Given the description of an element on the screen output the (x, y) to click on. 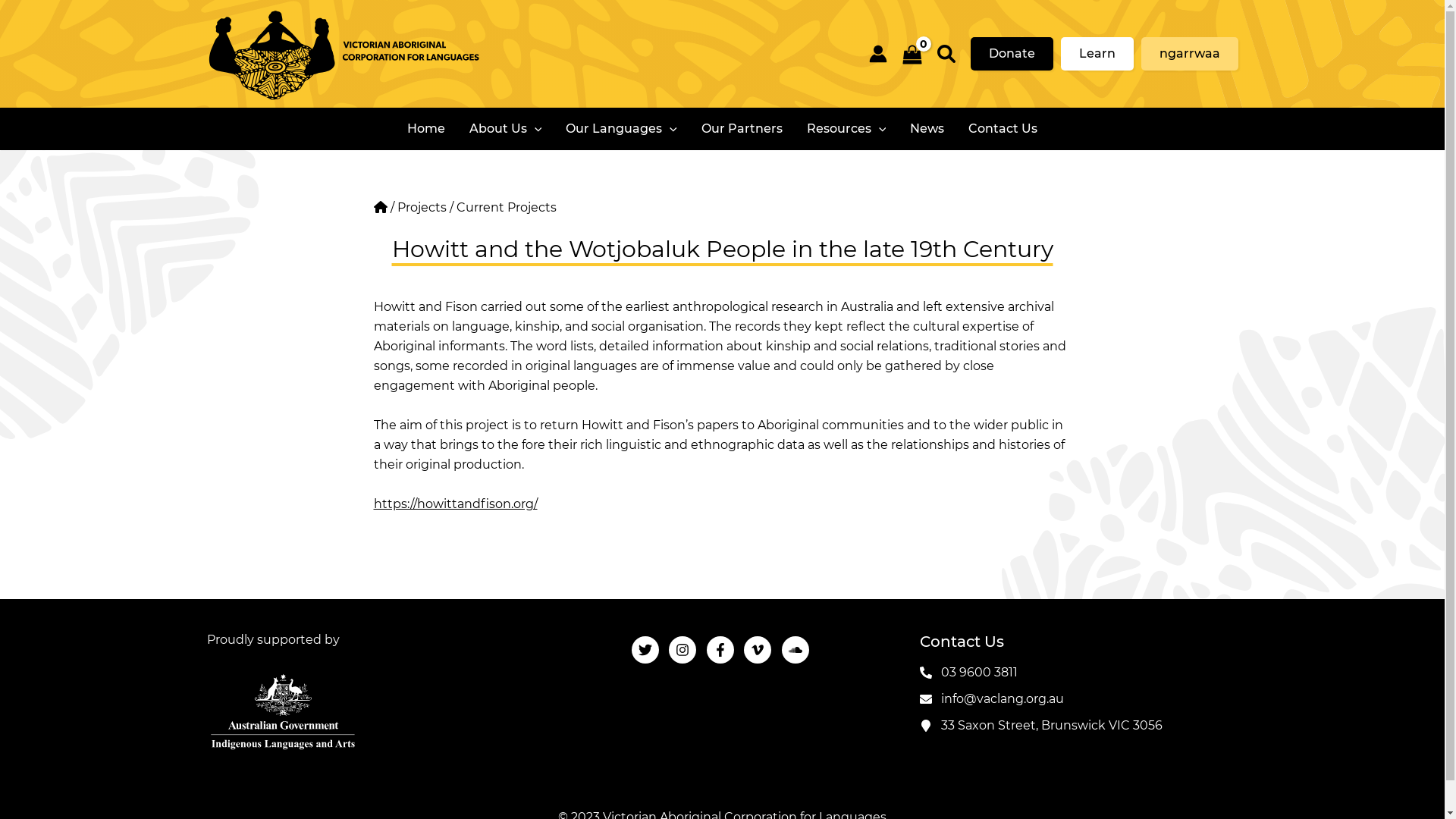
News Element type: text (926, 128)
03 9600 3811 Element type: text (967, 672)
ngarrwaa Element type: text (1188, 53)
Learn Element type: text (1096, 53)
https://howittandfison.org/ Element type: text (454, 503)
Our Partners Element type: text (741, 128)
Home Element type: text (426, 128)
Contact Us Element type: text (1002, 128)
33 Saxon Street, Brunswick VIC 3056 Element type: text (1040, 725)
Projects Element type: text (421, 207)
Resources Element type: text (846, 128)
Donate Element type: text (1011, 53)
About Us Element type: text (505, 128)
Search Element type: text (946, 53)
Current Projects Element type: text (506, 207)
Our Languages Element type: text (621, 128)
info@vaclang.org.au Element type: text (991, 698)
